Given the description of an element on the screen output the (x, y) to click on. 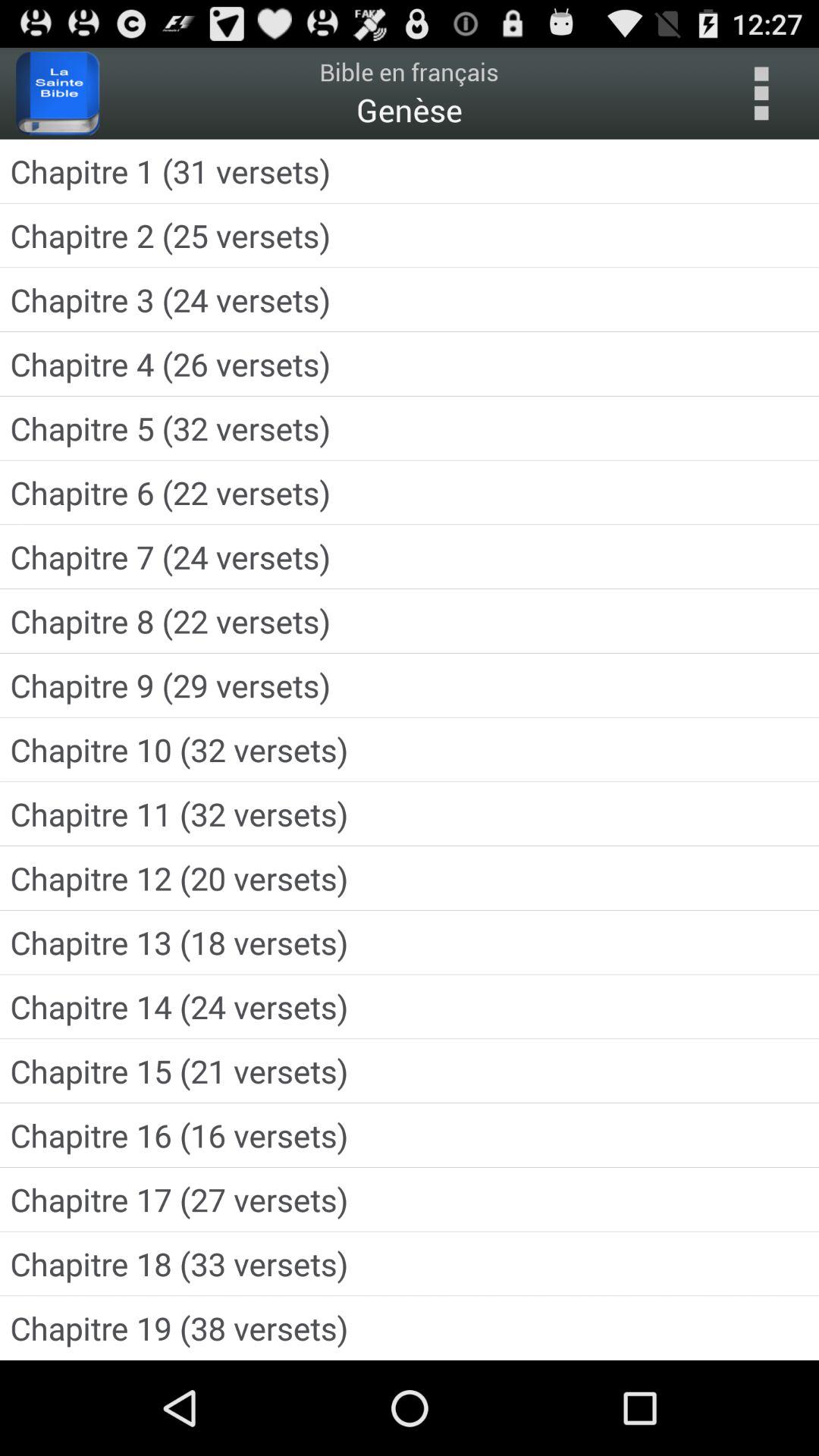
open more options (761, 93)
